Given the description of an element on the screen output the (x, y) to click on. 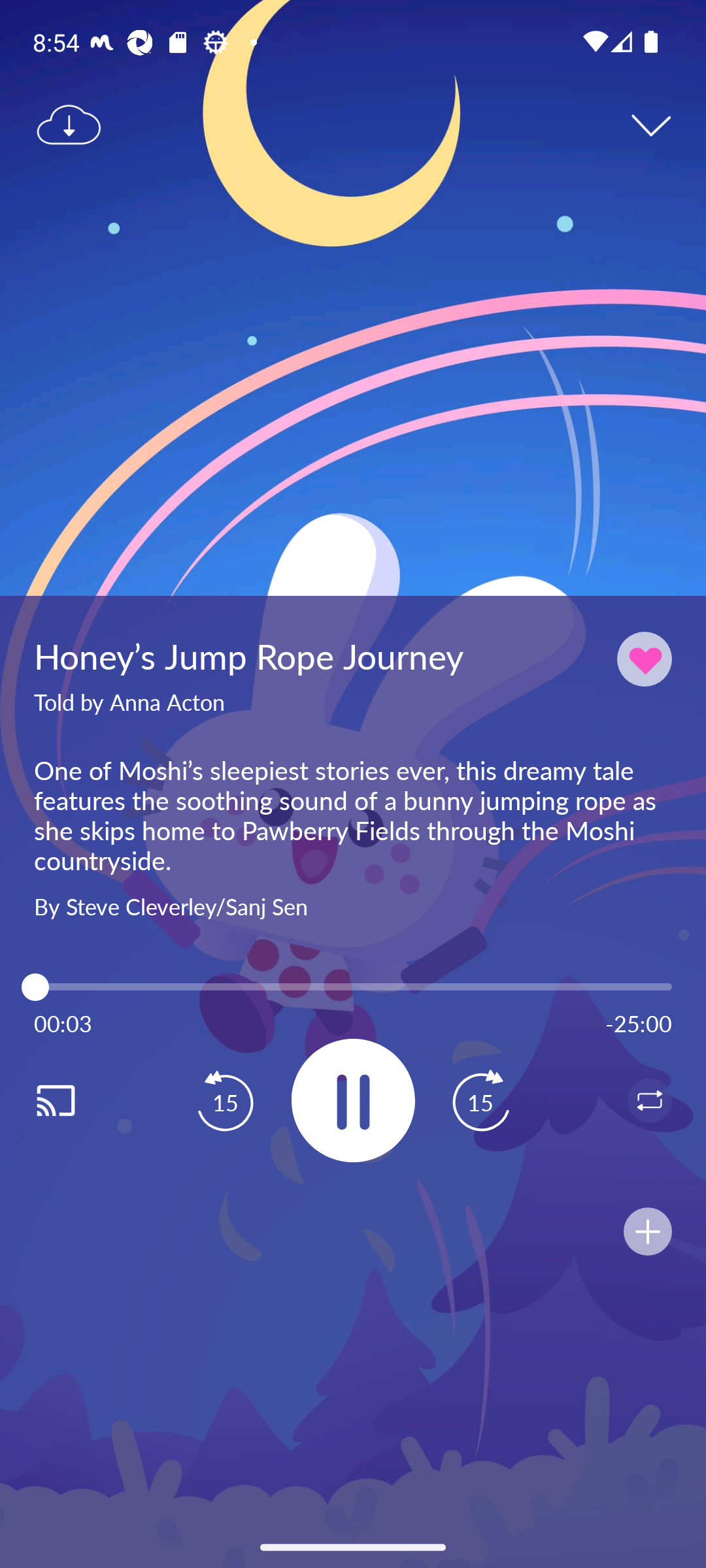
3.0 (352, 986)
Cast. Disconnected (76, 1100)
